Given the description of an element on the screen output the (x, y) to click on. 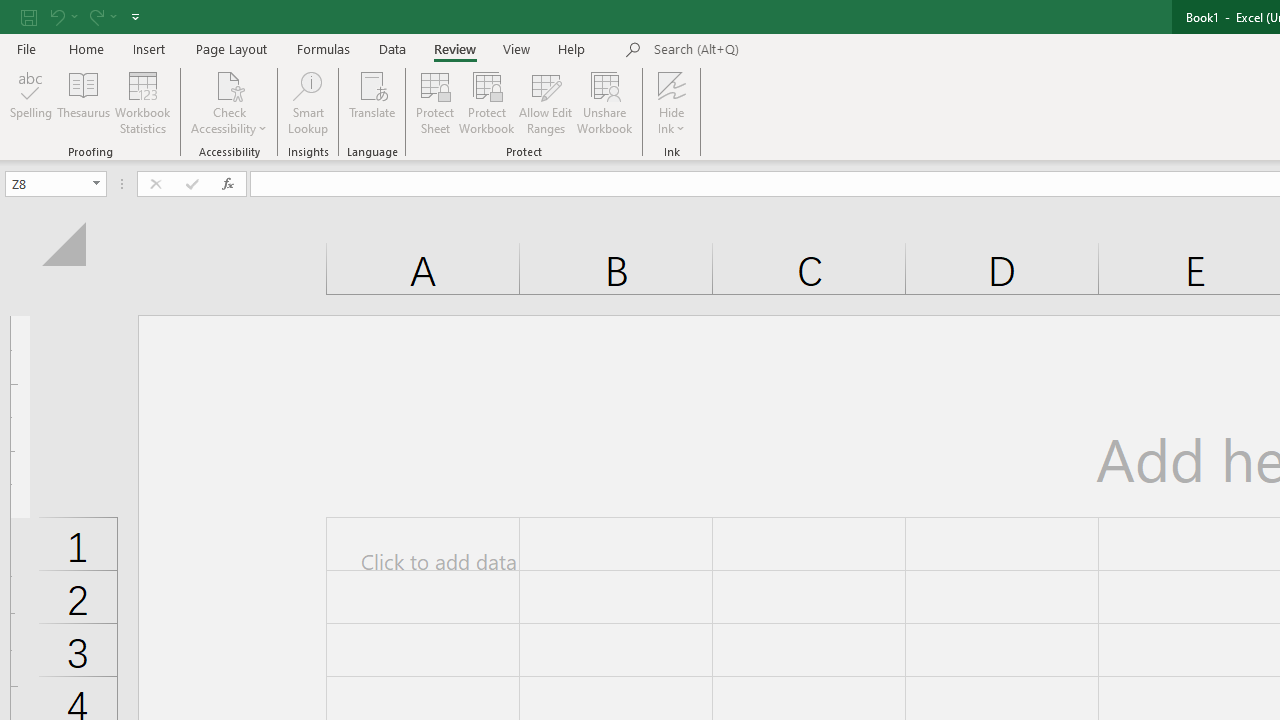
Spelling... (31, 102)
Check Accessibility (229, 84)
Translate (372, 102)
Hide Ink (671, 102)
Workbook Statistics (142, 102)
